Given the description of an element on the screen output the (x, y) to click on. 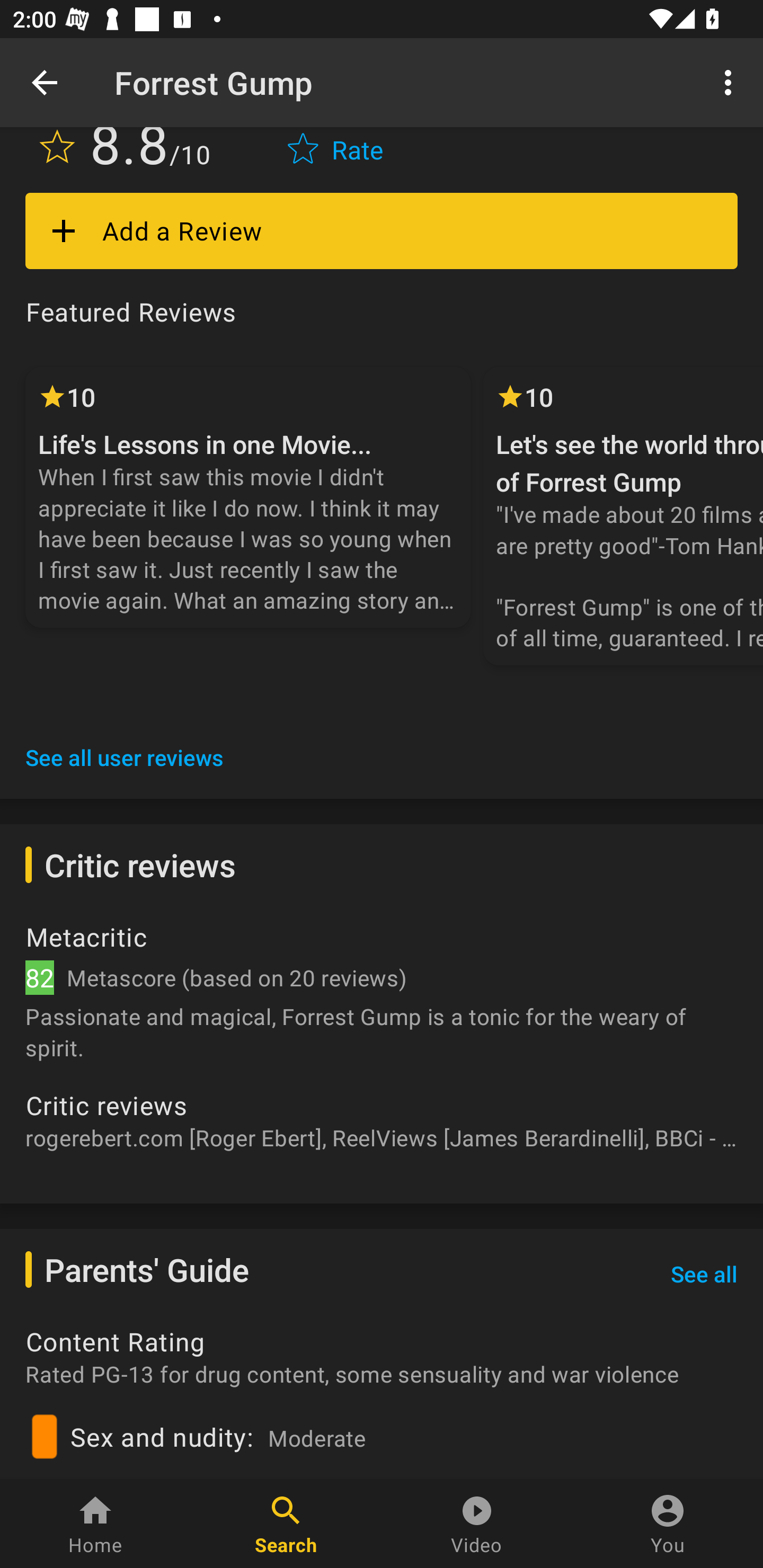
More options (731, 81)
Rate (337, 153)
Add a Review (381, 230)
See all user reviews (124, 757)
See all See all  (703, 1273)
Sex and nudity:  Moderate (381, 1439)
Home (95, 1523)
Video (476, 1523)
You (667, 1523)
